Given the description of an element on the screen output the (x, y) to click on. 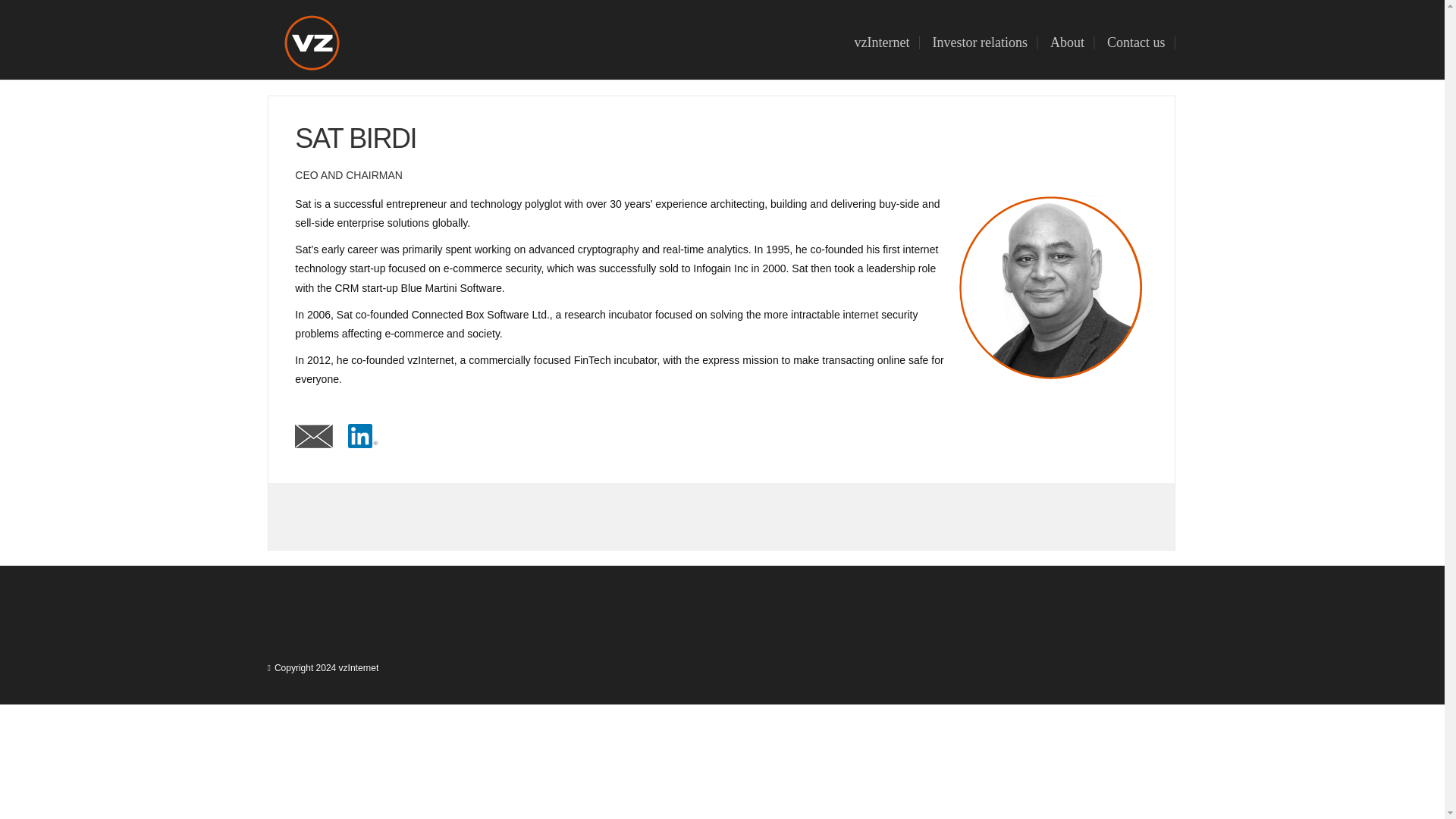
vzInternet (882, 42)
Investor relations (980, 42)
Investor relations (980, 42)
Contact us (1136, 42)
Copyright 2024 vzInternet (326, 667)
About (1067, 42)
About (1067, 42)
vzInternet (882, 42)
Contact us (1136, 42)
